Given the description of an element on the screen output the (x, y) to click on. 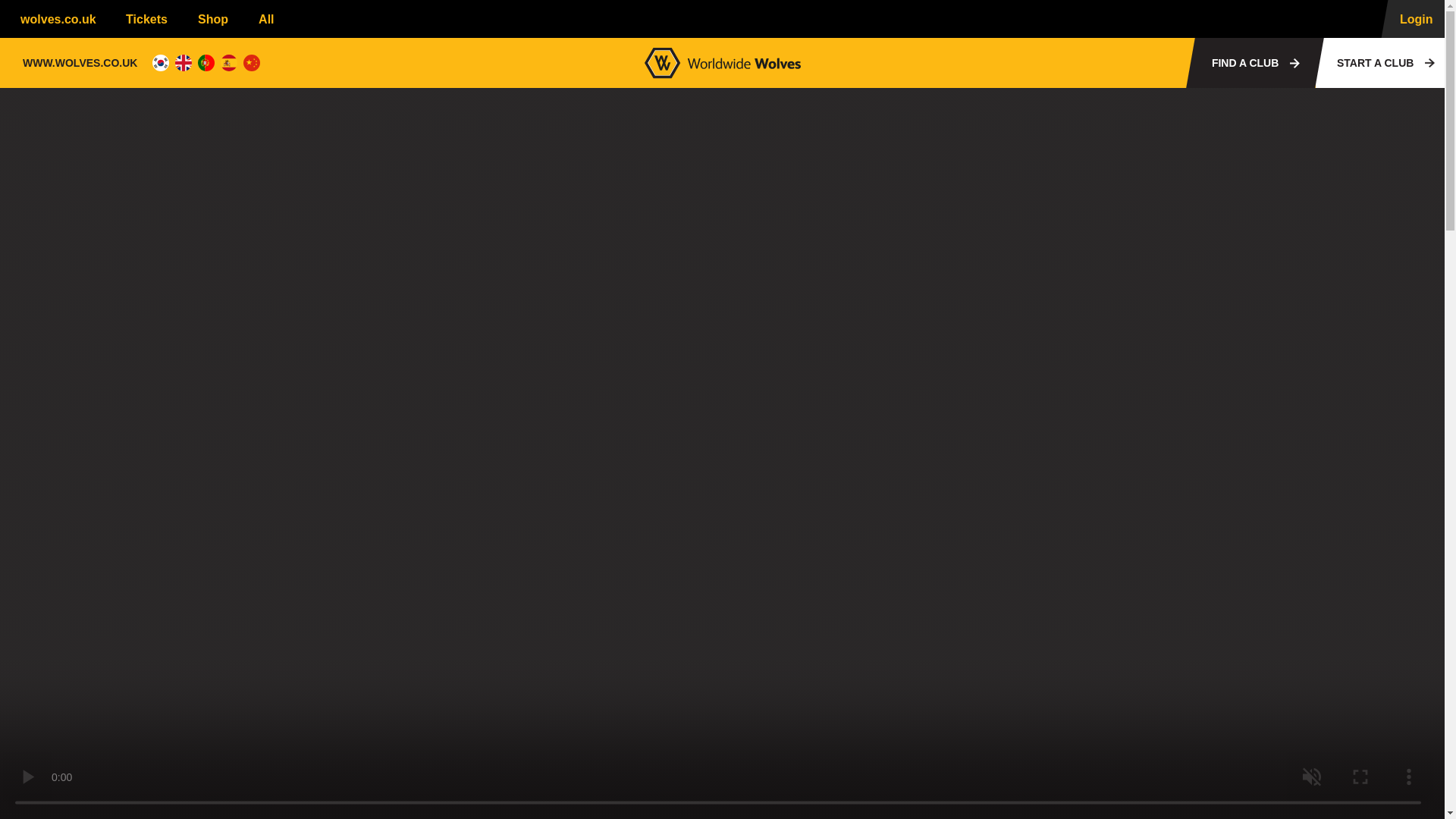
FIND A CLUB (1250, 62)
Shop (209, 18)
Tickets (143, 18)
WWW.WOLVES.CO.UK (79, 62)
All (272, 18)
wolves.co.uk (53, 18)
